Given the description of an element on the screen output the (x, y) to click on. 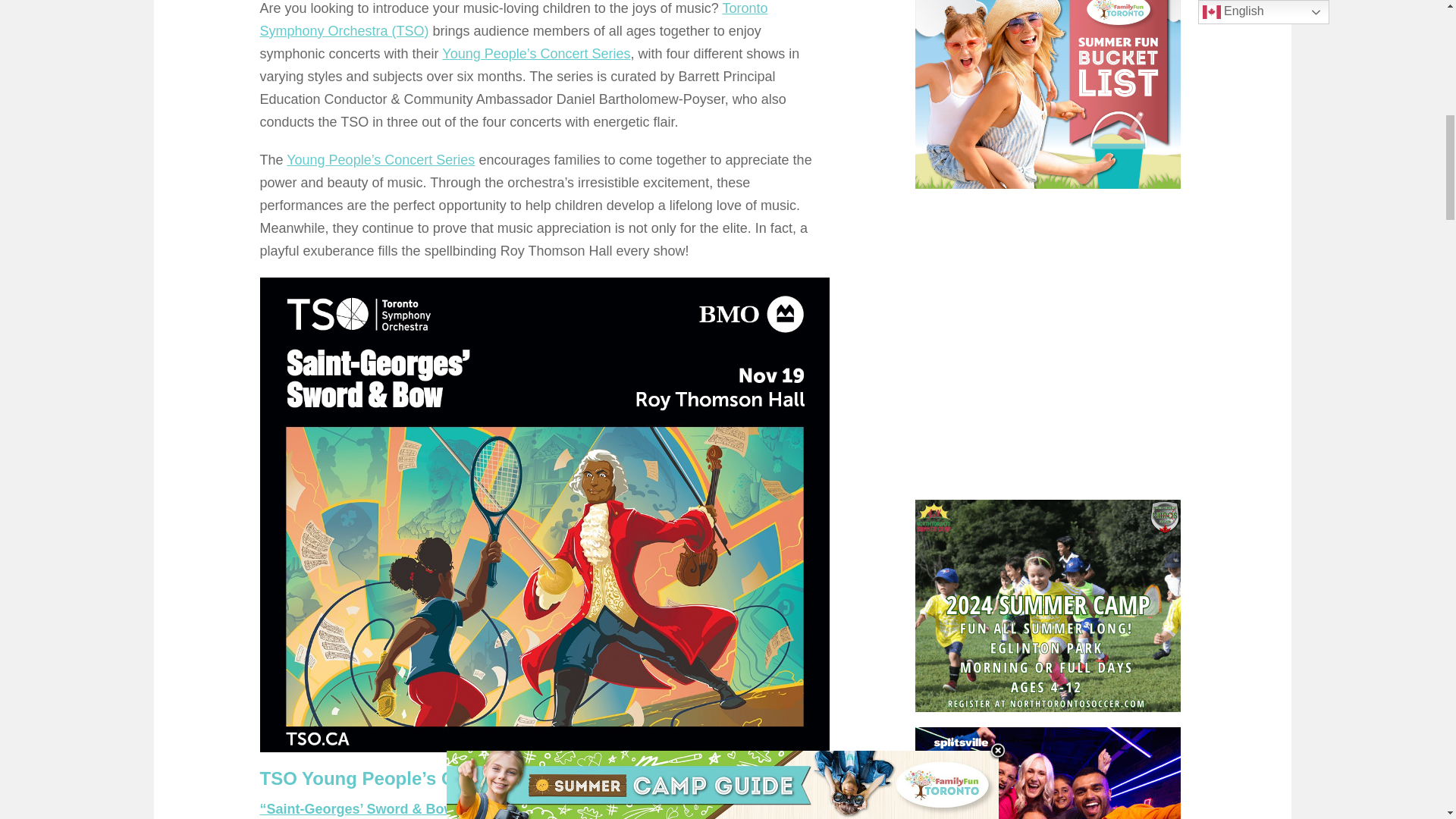
Splitsville Summer Kids Club (1047, 773)
